Given the description of an element on the screen output the (x, y) to click on. 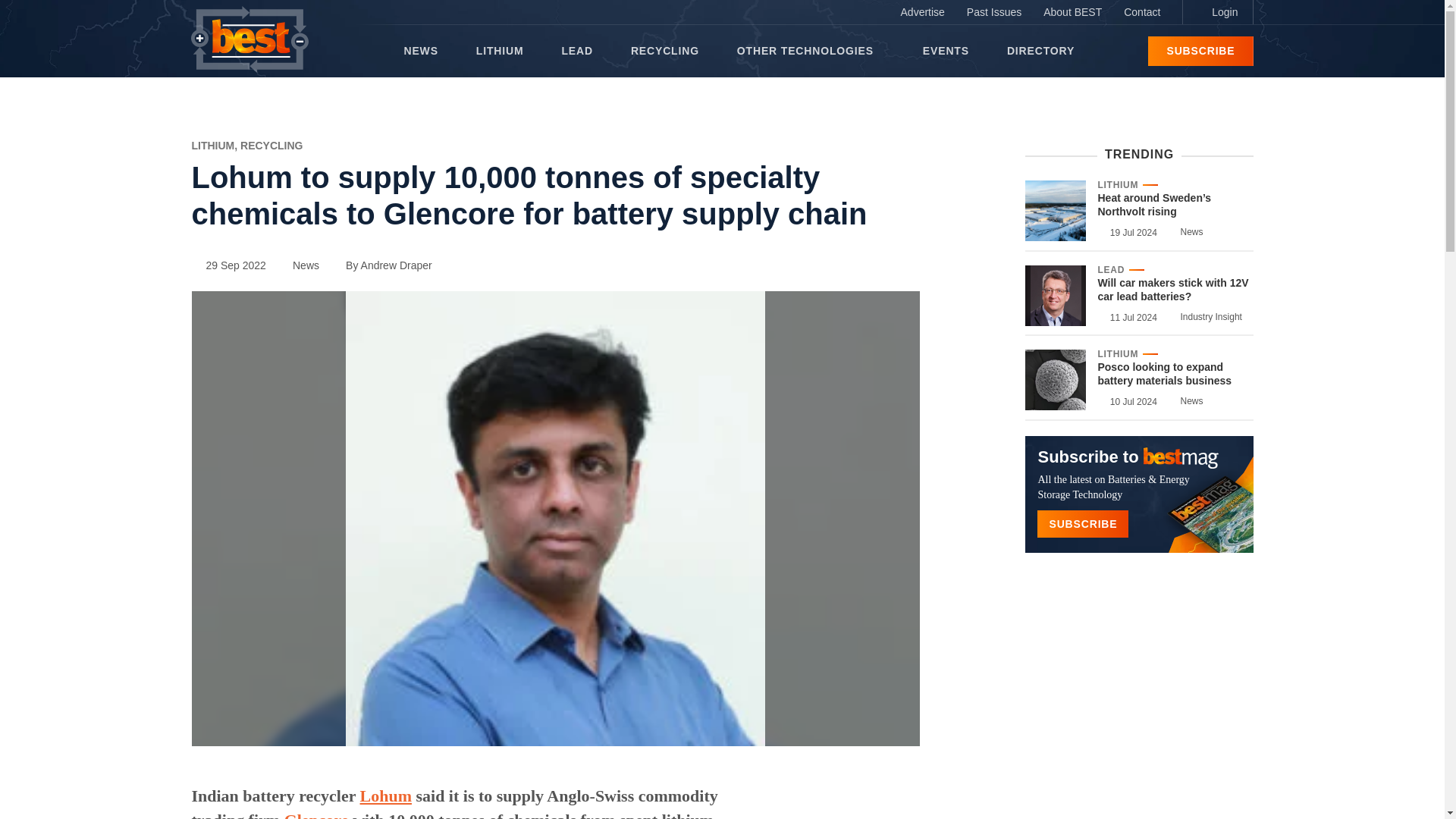
RECYCLING (664, 50)
SUBSCRIBE (1200, 51)
Past Issues (994, 12)
News (298, 265)
Advertise (922, 12)
By Andrew Draper (381, 265)
OTHER TECHNOLOGIES (810, 50)
LITHIUM (215, 145)
EVENTS (945, 50)
Contact (1141, 12)
NEWS (420, 50)
Login (1217, 12)
DIRECTORY (1039, 50)
LITHIUM (499, 50)
Lohum (385, 795)
